Given the description of an element on the screen output the (x, y) to click on. 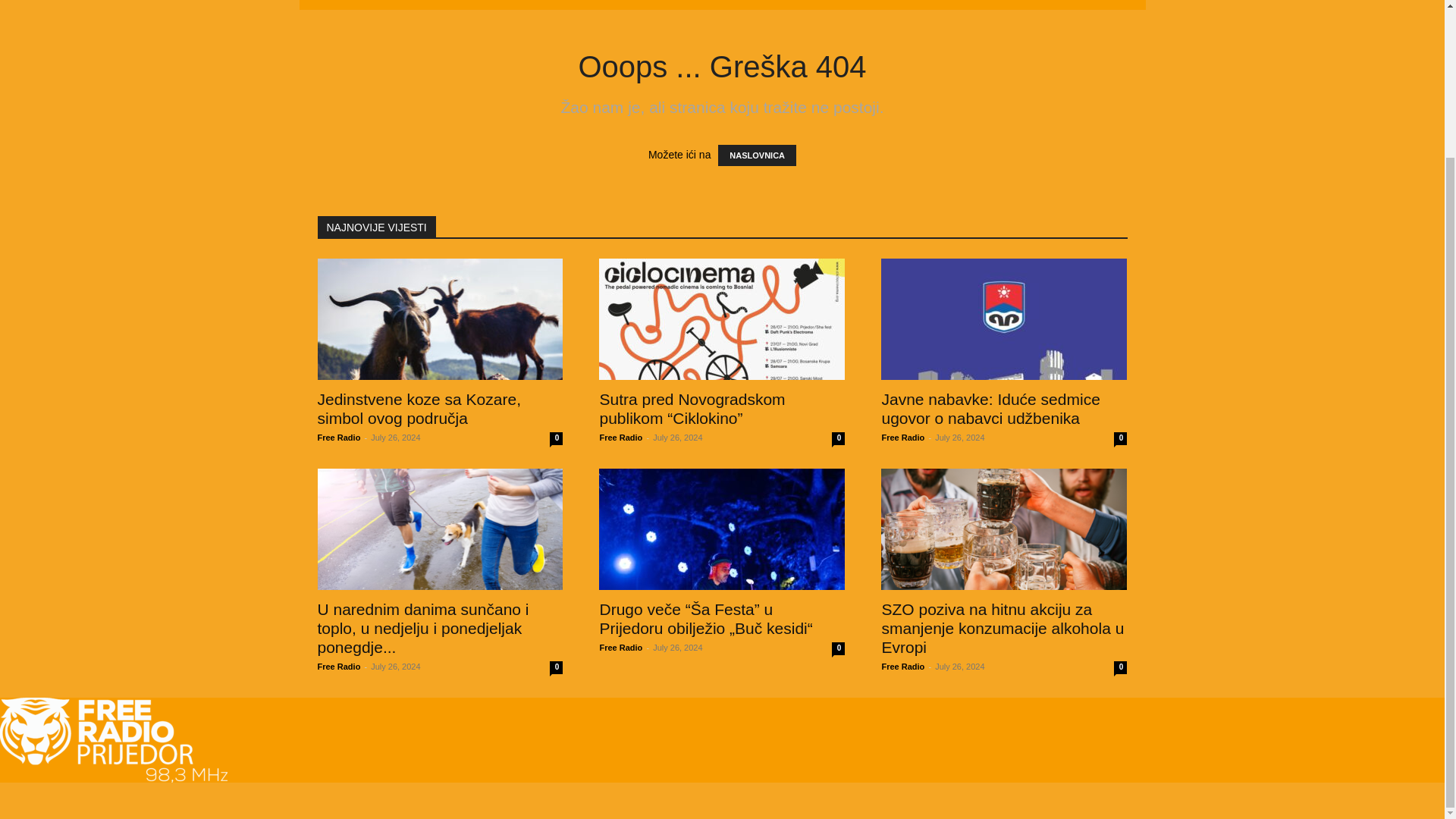
NASLOVNICA (756, 155)
